Given the description of an element on the screen output the (x, y) to click on. 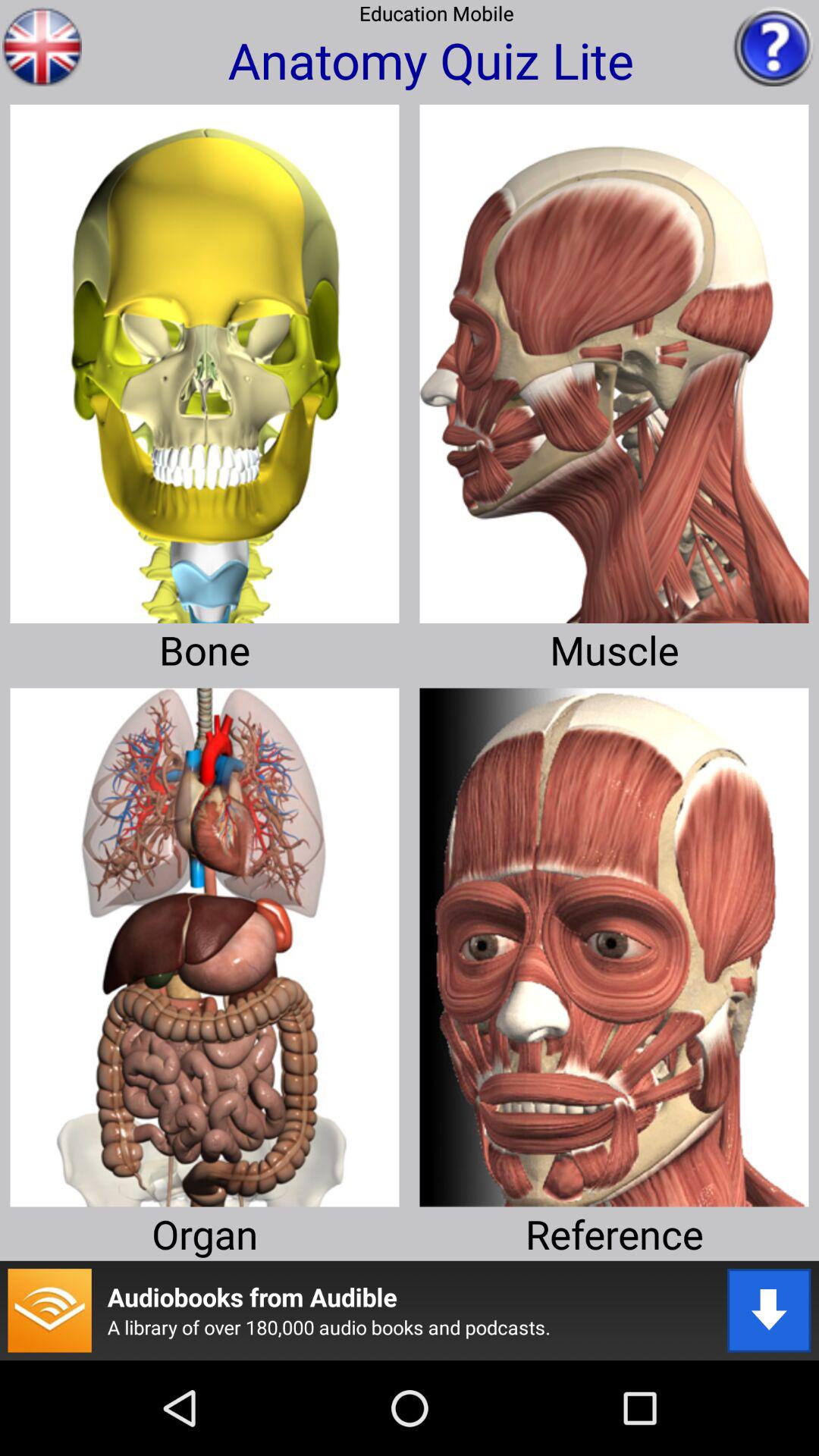
go to help menu (773, 46)
